Given the description of an element on the screen output the (x, y) to click on. 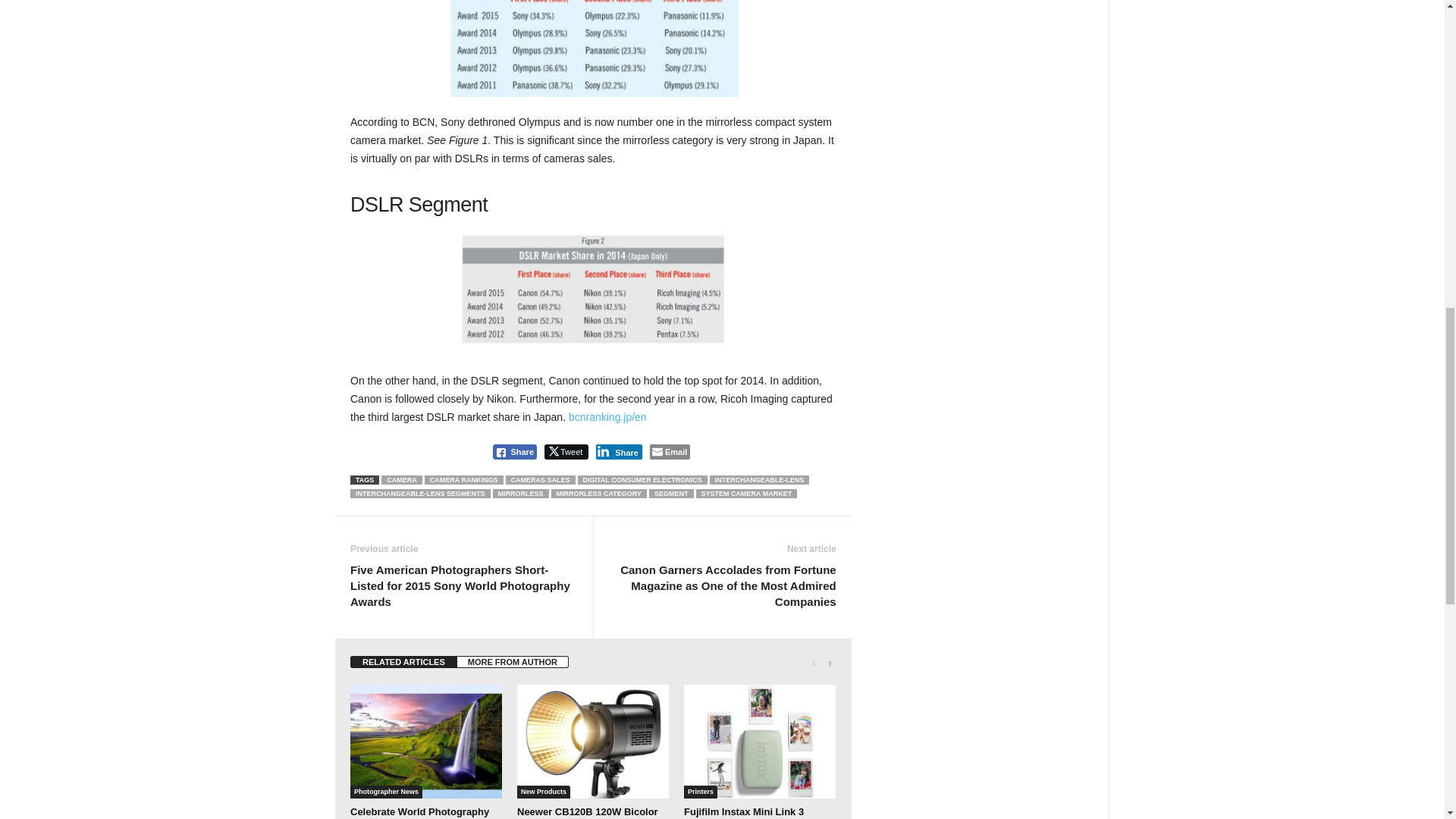
Celebrate World Photography Week 2024 (426, 741)
Celebrate World Photography Week 2024 (419, 812)
Neewer CB120B 120W Bicolor Continuous LED Video Light (587, 812)
Neewer CB120B 120W Bicolor Continuous LED Video Light (592, 741)
